Given the description of an element on the screen output the (x, y) to click on. 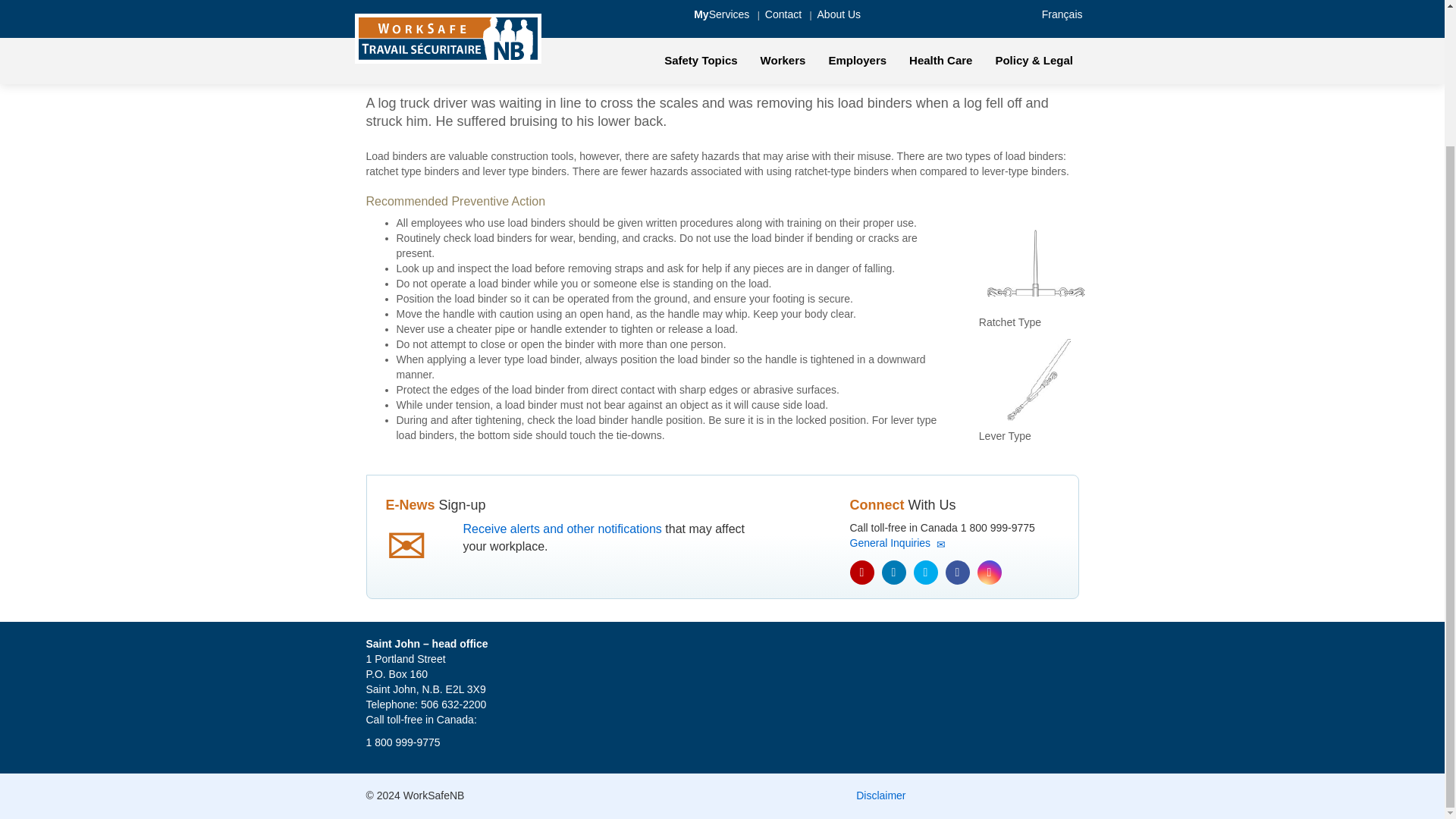
Linkedin icon (892, 572)
Facebook icon (956, 572)
General Inquiries   (896, 542)
Instagram icon (988, 572)
Instagram (988, 572)
YouTube (860, 572)
youtube icon (860, 572)
Disclaimer (880, 795)
Twitter icon (924, 572)
General Inquiries (896, 542)
LinkedIn (892, 572)
Receive alerts and other notifications (562, 528)
Facebook (956, 572)
Twitter (924, 572)
